Given the description of an element on the screen output the (x, y) to click on. 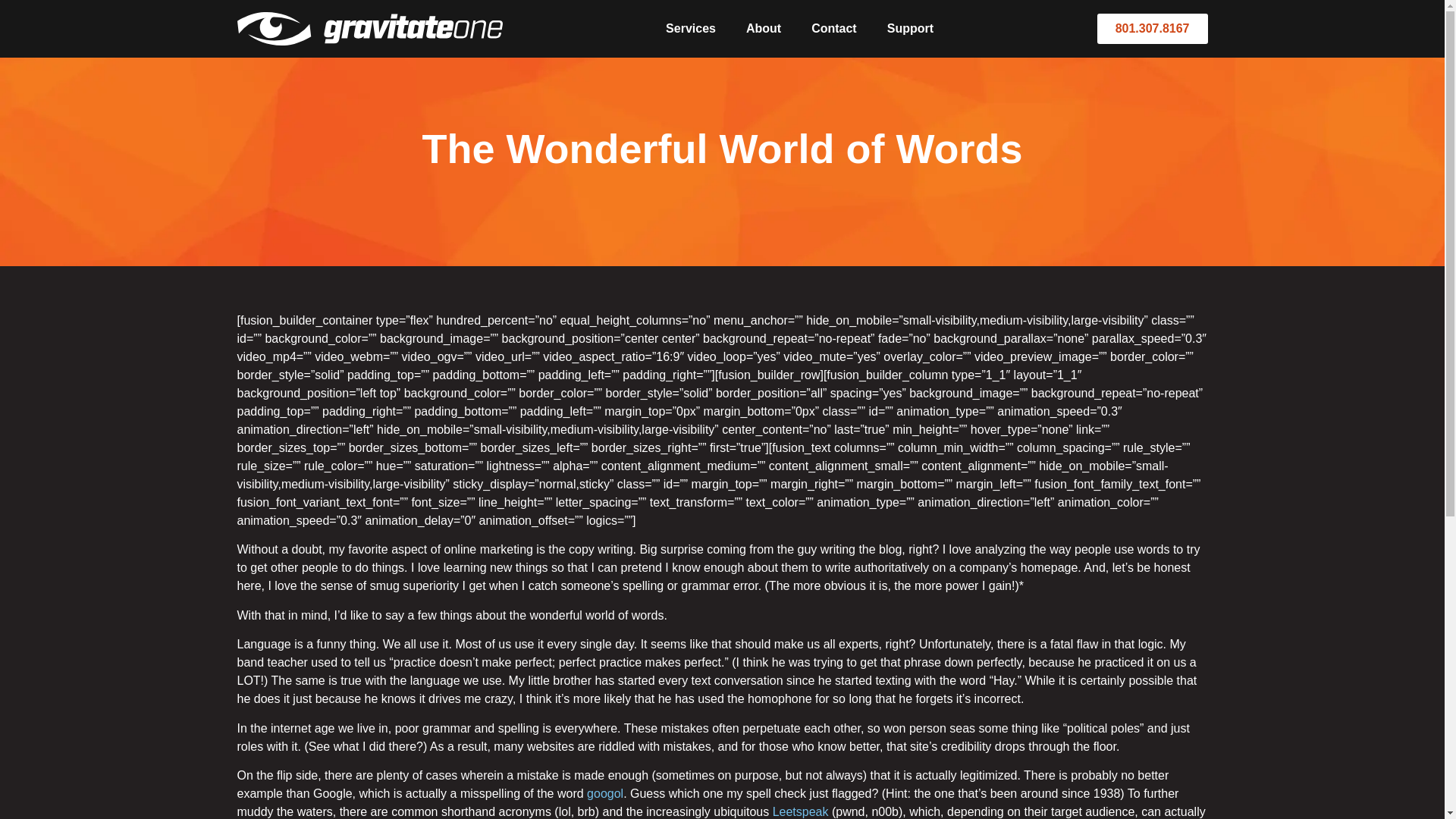
Leetspeak (800, 811)
Contact (834, 28)
googol (604, 793)
801.307.8167 (1152, 28)
Support (910, 28)
Services (690, 28)
About (763, 28)
